Given the description of an element on the screen output the (x, y) to click on. 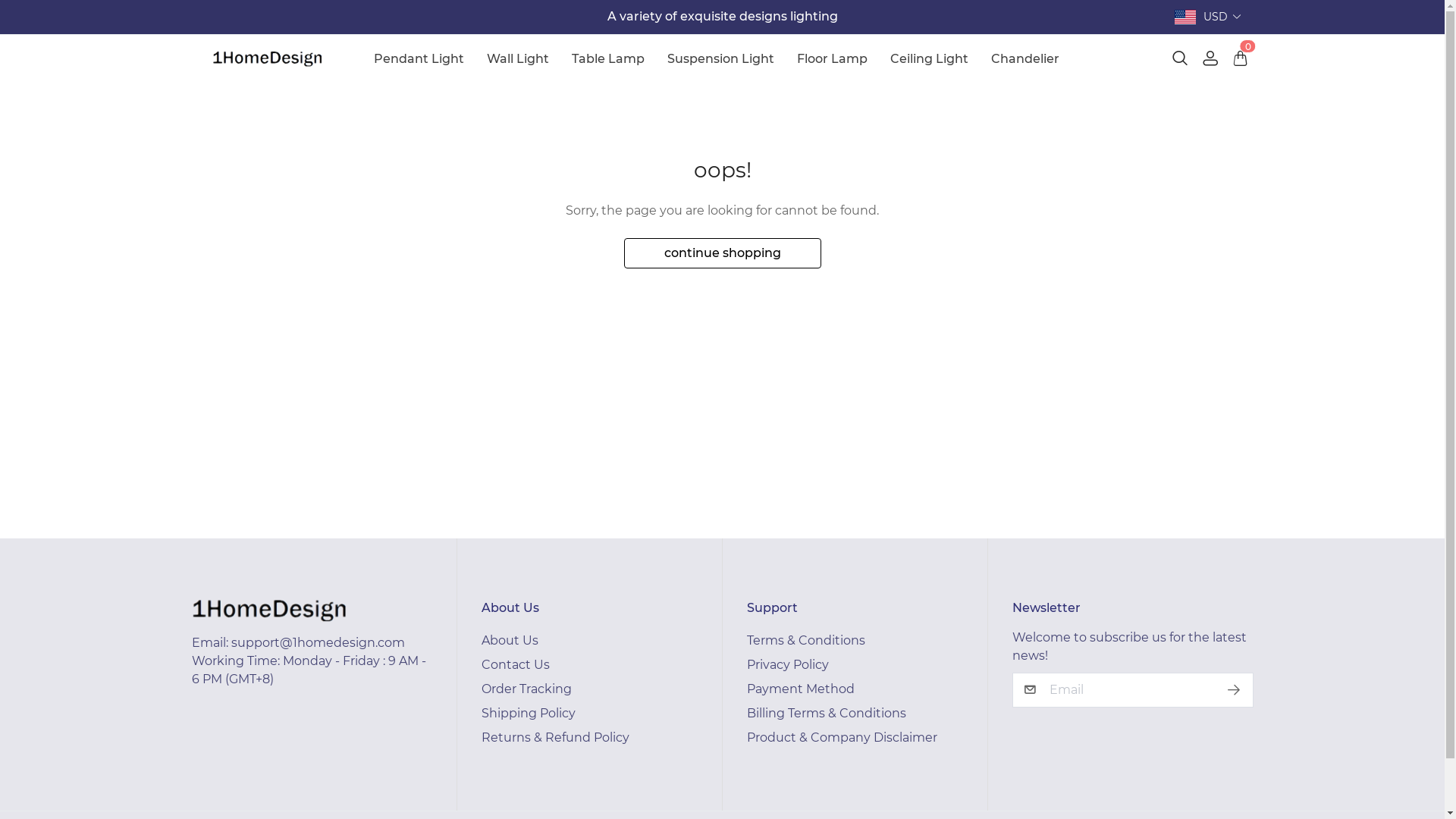
Suspension Light Element type: text (720, 59)
Wall Light Element type: text (517, 59)
Shipping Policy Element type: text (527, 713)
Ceiling Light Element type: text (929, 59)
Billing Terms & Conditions Element type: text (825, 713)
continue shopping Element type: text (721, 253)
Chandelier Element type: text (1025, 59)
Payment Method Element type: text (799, 688)
Terms & Conditions Element type: text (805, 640)
Pendant Light Element type: text (418, 59)
About Us Element type: text (508, 640)
Returns & Refund Policy Element type: text (554, 737)
Privacy Policy Element type: text (787, 664)
A variety of exquisite designs lighting Element type: text (721, 16)
Table Lamp Element type: text (607, 59)
Product & Company Disclaimer Element type: text (841, 737)
Contact Us Element type: text (514, 664)
Floor Lamp Element type: text (832, 59)
Order Tracking Element type: text (525, 688)
